Given the description of an element on the screen output the (x, y) to click on. 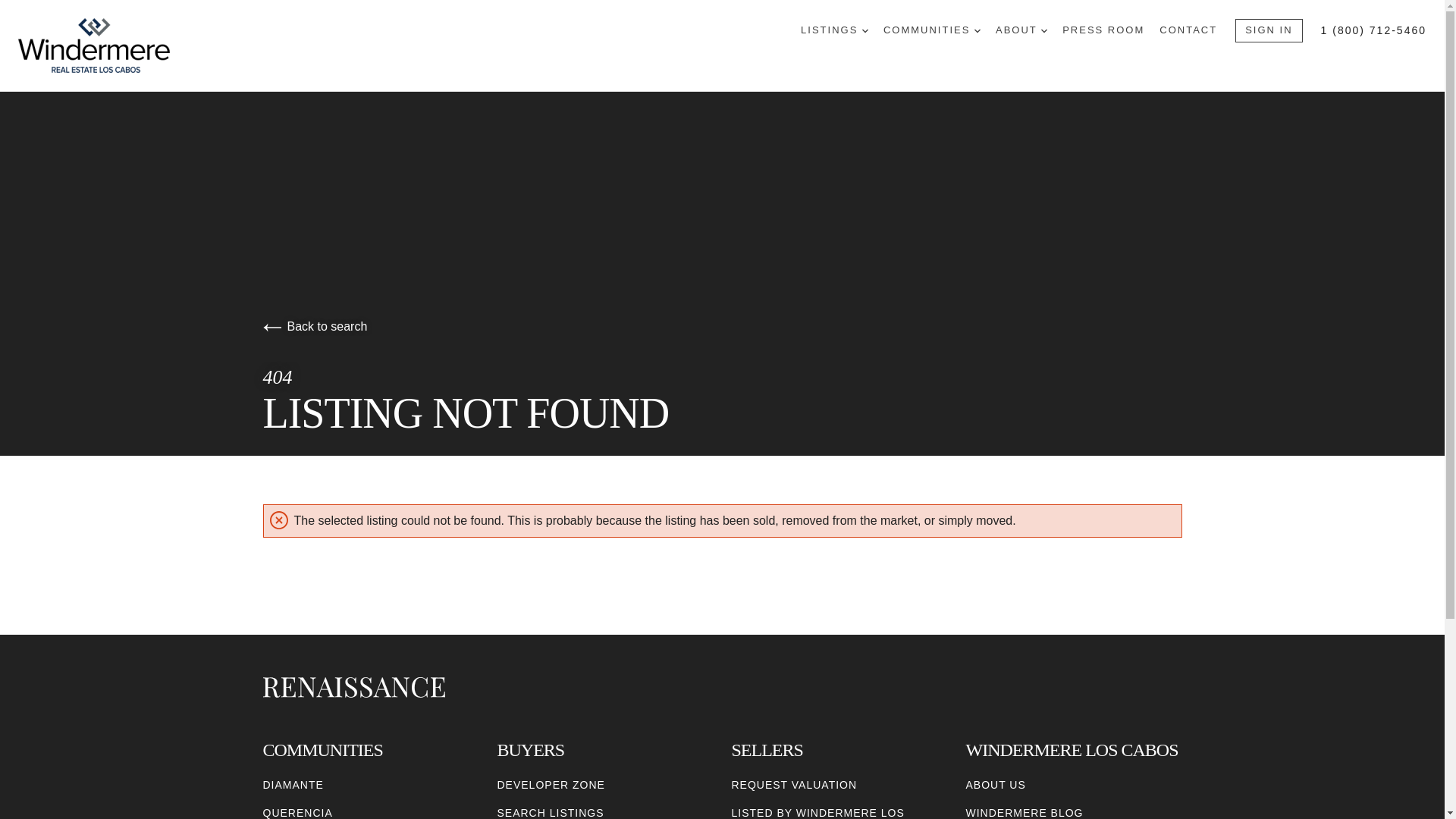
DIAMANTE (292, 785)
PRESS ROOM (1103, 30)
Back to search (314, 326)
DROPDOWN ARROW (1043, 30)
DROPDOWN ARROW (976, 30)
ABOUT DROPDOWN ARROW (1020, 30)
LISTINGS DROPDOWN ARROW (833, 30)
COMMUNITIES DROPDOWN ARROW (931, 30)
CONTACT (1187, 30)
QUERENCIA (296, 812)
DROPDOWN ARROW (864, 30)
SIGN IN (1267, 30)
